Given the description of an element on the screen output the (x, y) to click on. 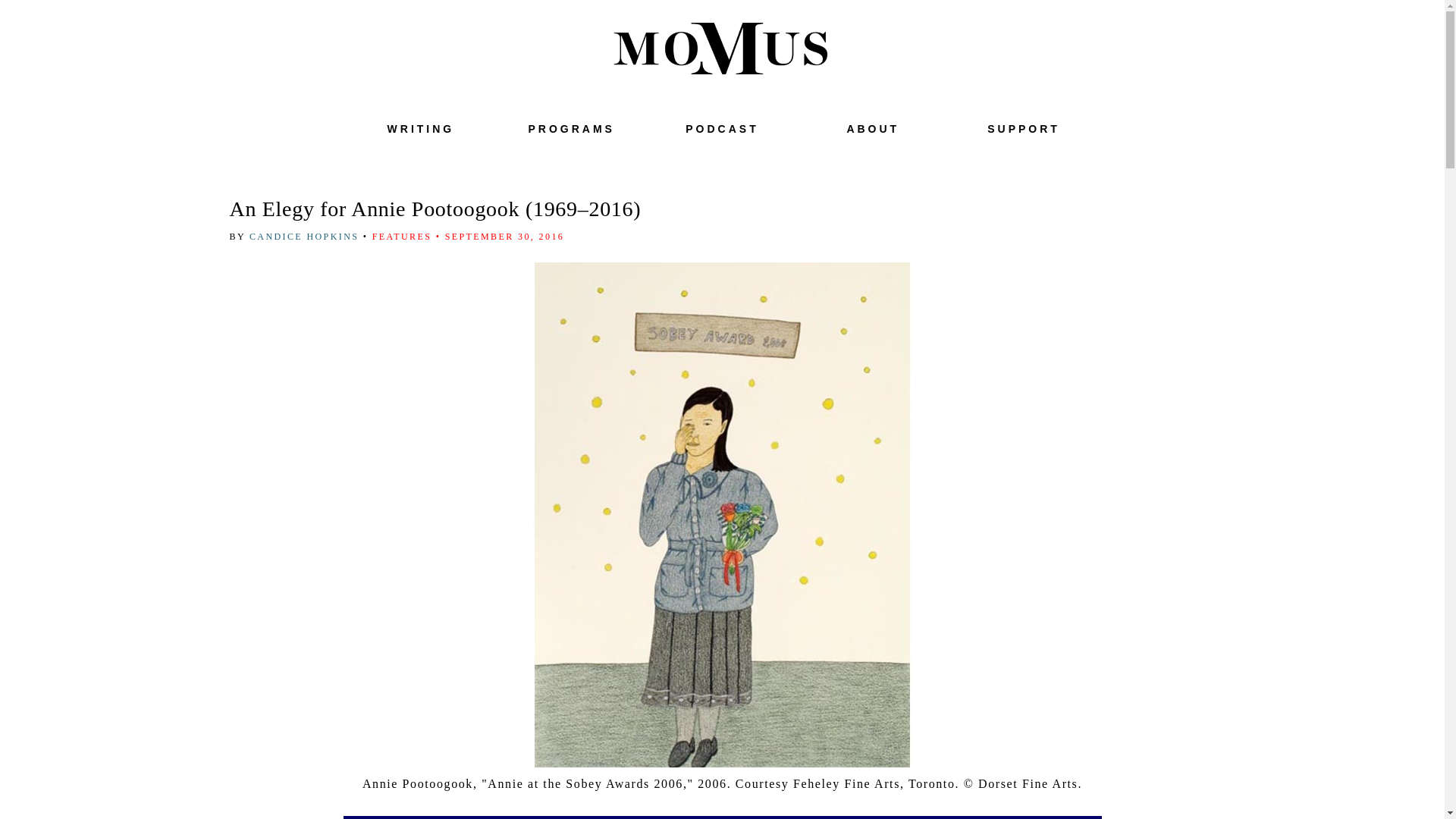
PODCAST (721, 129)
PROGRAMS (570, 129)
WRITING (420, 129)
FEATURES (402, 235)
ABOUT (872, 129)
SUPPORT (1023, 129)
CANDICE HOPKINS (305, 235)
